Given the description of an element on the screen output the (x, y) to click on. 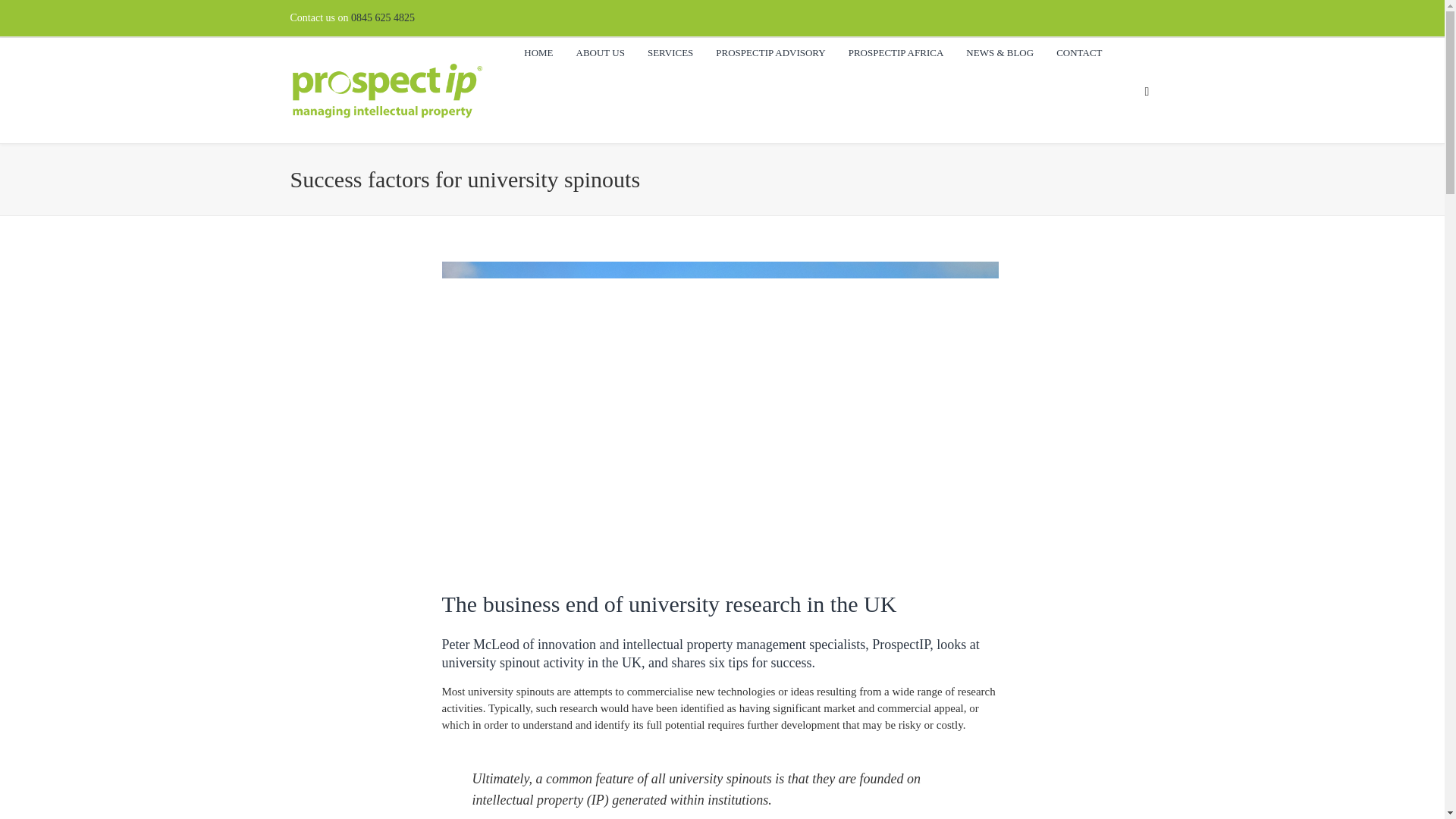
ABOUT US (600, 52)
SERVICES (670, 52)
PROSPECTIP ADVISORY (769, 52)
CONTACT (1078, 52)
PROSPECTIP AFRICA (896, 52)
0845 625 4825 (382, 17)
HOME (538, 52)
